Given the description of an element on the screen output the (x, y) to click on. 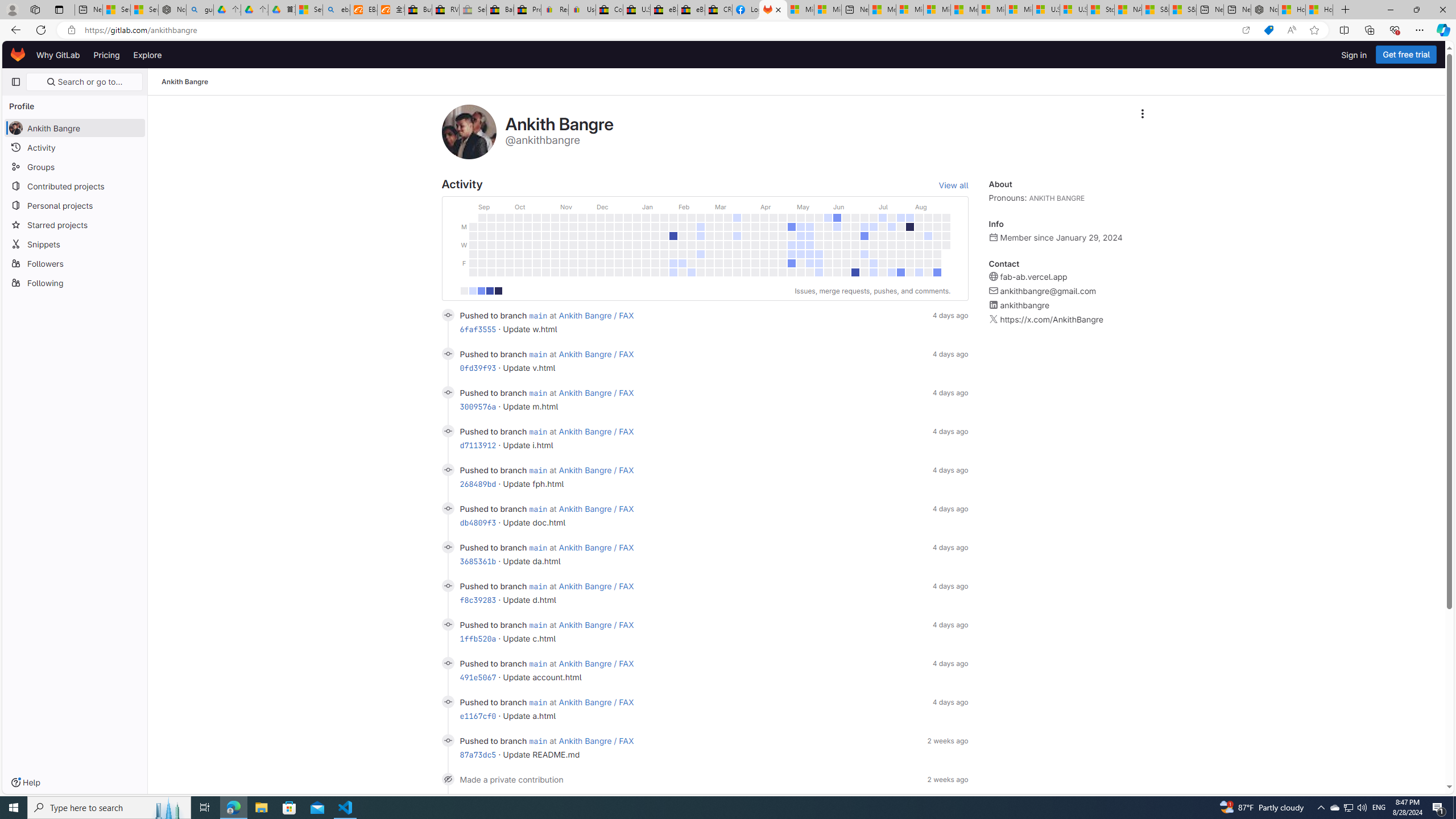
Open in app (1245, 29)
avatar (15, 128)
